Given the description of an element on the screen output the (x, y) to click on. 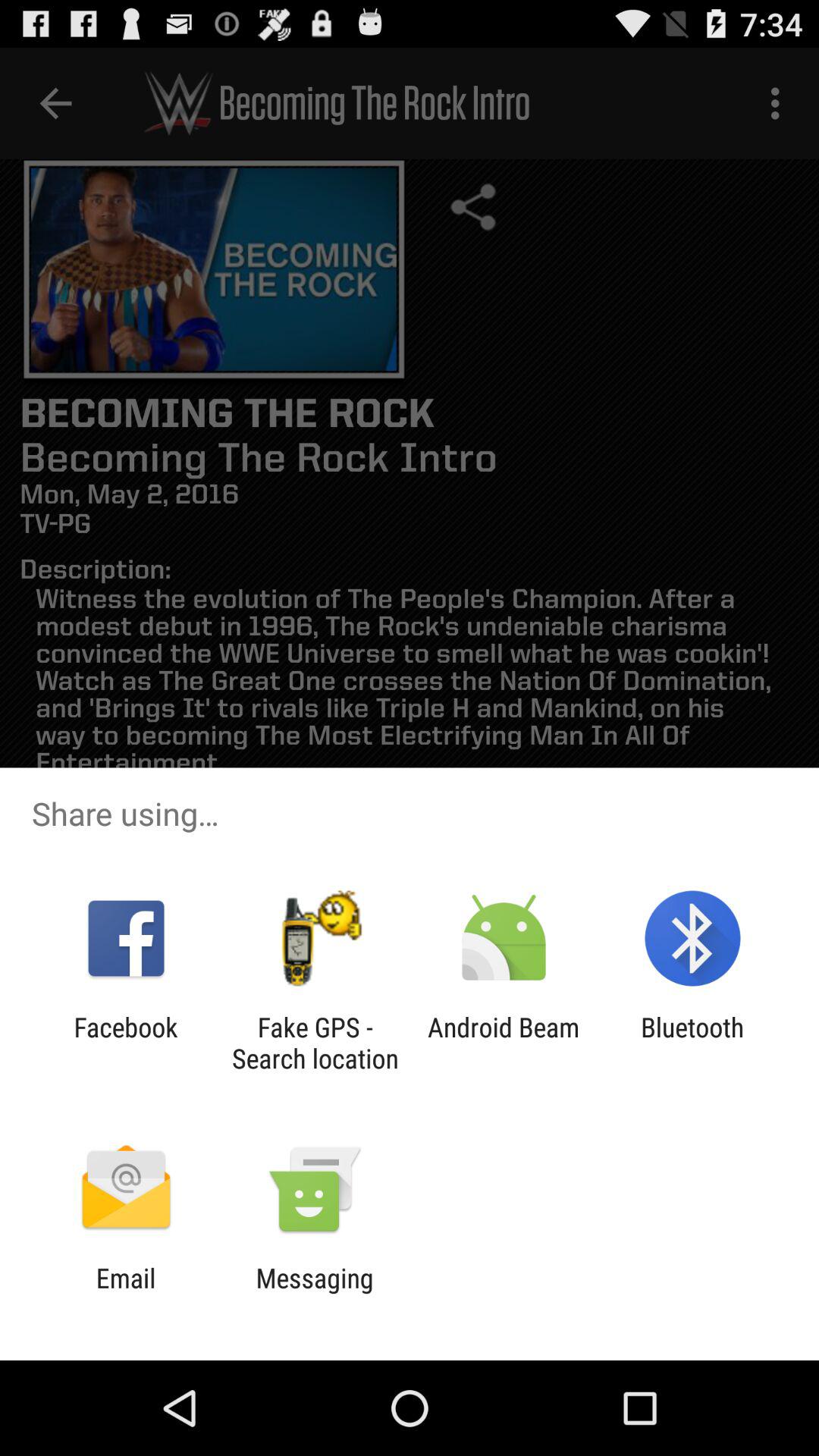
select item to the right of fake gps search (503, 1042)
